Given the description of an element on the screen output the (x, y) to click on. 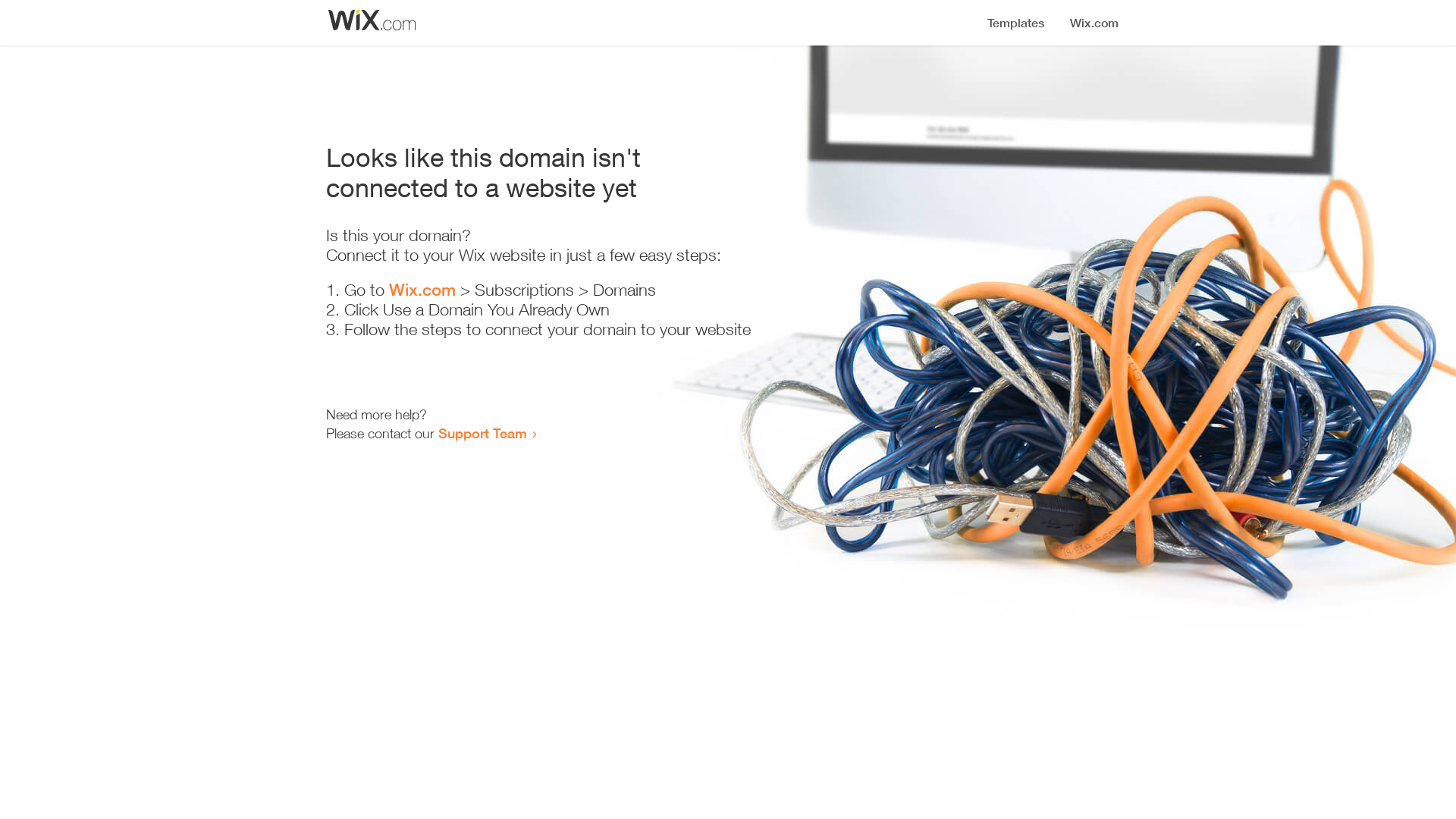
Wix.com Element type: text (422, 289)
Support Team Element type: text (482, 432)
